Given the description of an element on the screen output the (x, y) to click on. 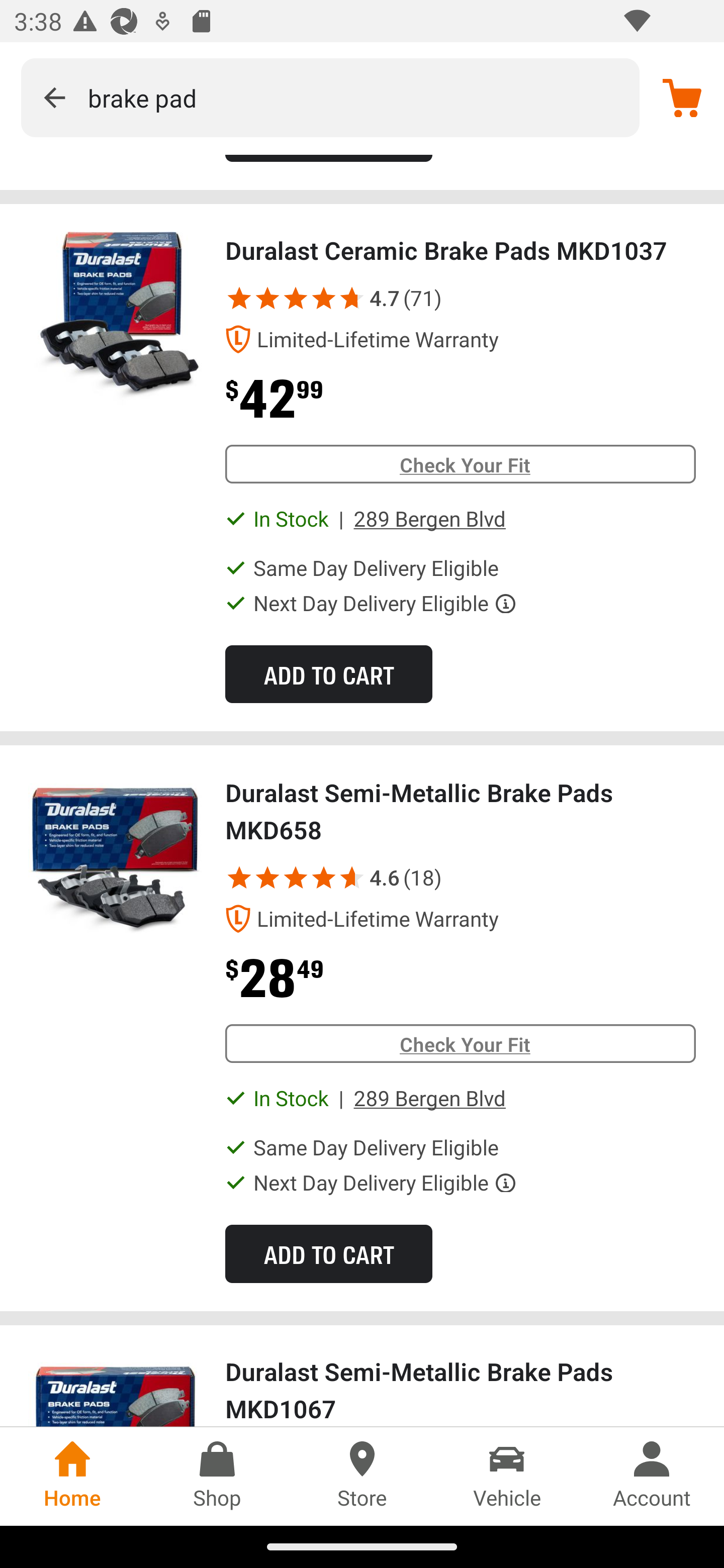
Find parts and products  brake pad (330, 97)
 (54, 97)
Cart, no items  (681, 97)
Duralast Ceramic Brake Pads MKD1037 (116, 319)
 (239, 297)
 (267, 297)
 (295, 297)
 (323, 297)
 (347, 297)
Check your fit Check Your Fit (460, 463)
In Stock  |  289 Bergen Blvd (379, 518)
Add to cart ADD TO CART (328, 674)
Duralast Semi-Metallic Brake Pads MKD658 (116, 862)
 (239, 877)
 (267, 877)
 (295, 877)
 (323, 877)
 (346, 877)
Check your fit Check Your Fit (460, 1043)
In Stock  |  289 Bergen Blvd (379, 1097)
Add to cart ADD TO CART (328, 1253)
Duralast Semi-Metallic Brake Pads MKD1067 (460, 1389)
Home (72, 1475)
Shop (216, 1475)
Store (361, 1475)
Vehicle (506, 1475)
Account (651, 1475)
